Given the description of an element on the screen output the (x, y) to click on. 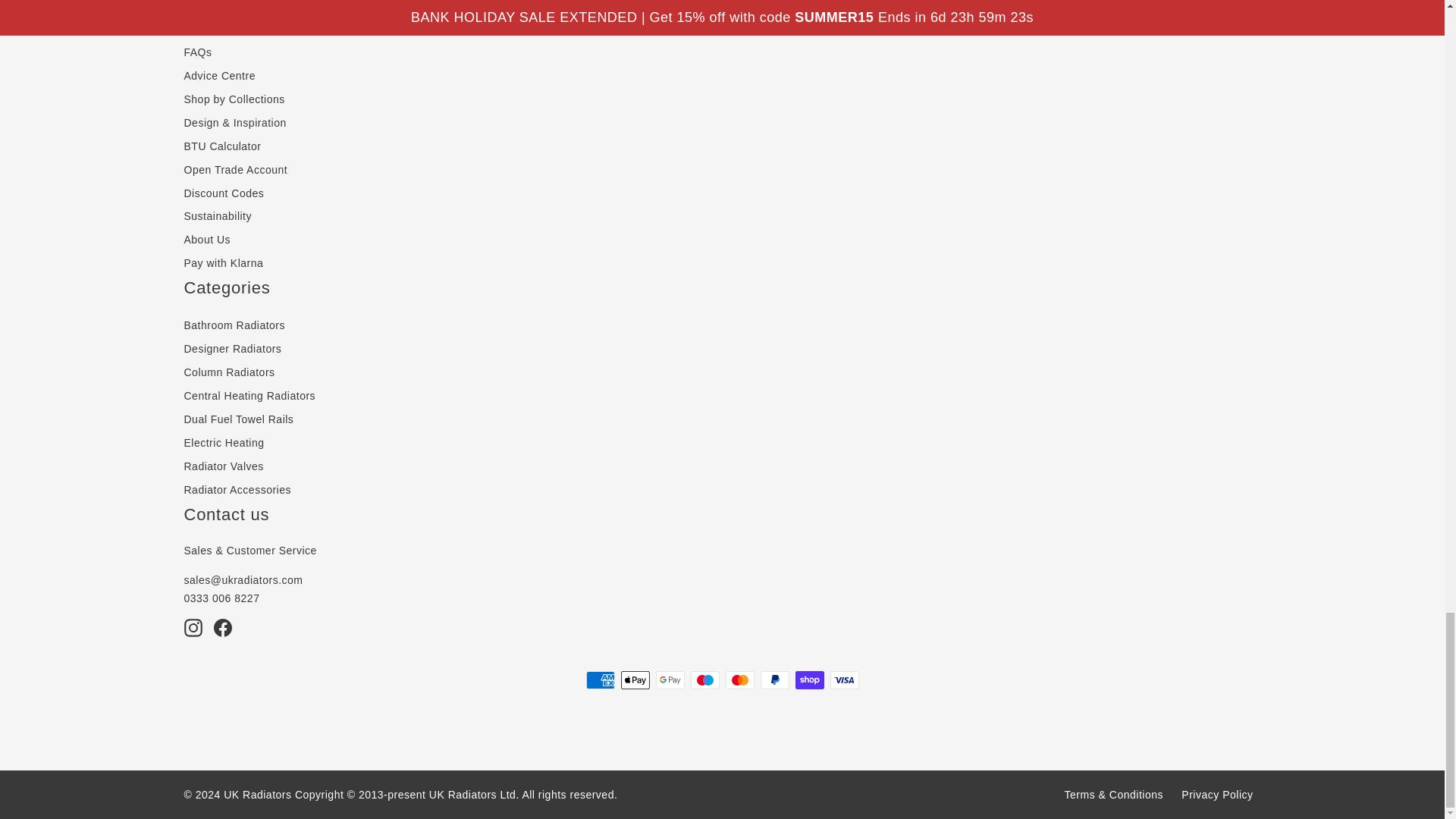
Mastercard (739, 679)
Maestro (704, 679)
instagram (192, 628)
tel:03330068227 (221, 598)
Shop Pay (809, 679)
PayPal (774, 679)
Apple Pay (634, 679)
Google Pay (669, 679)
American Express (599, 679)
UK Radiators on Instagram (192, 628)
